Given the description of an element on the screen output the (x, y) to click on. 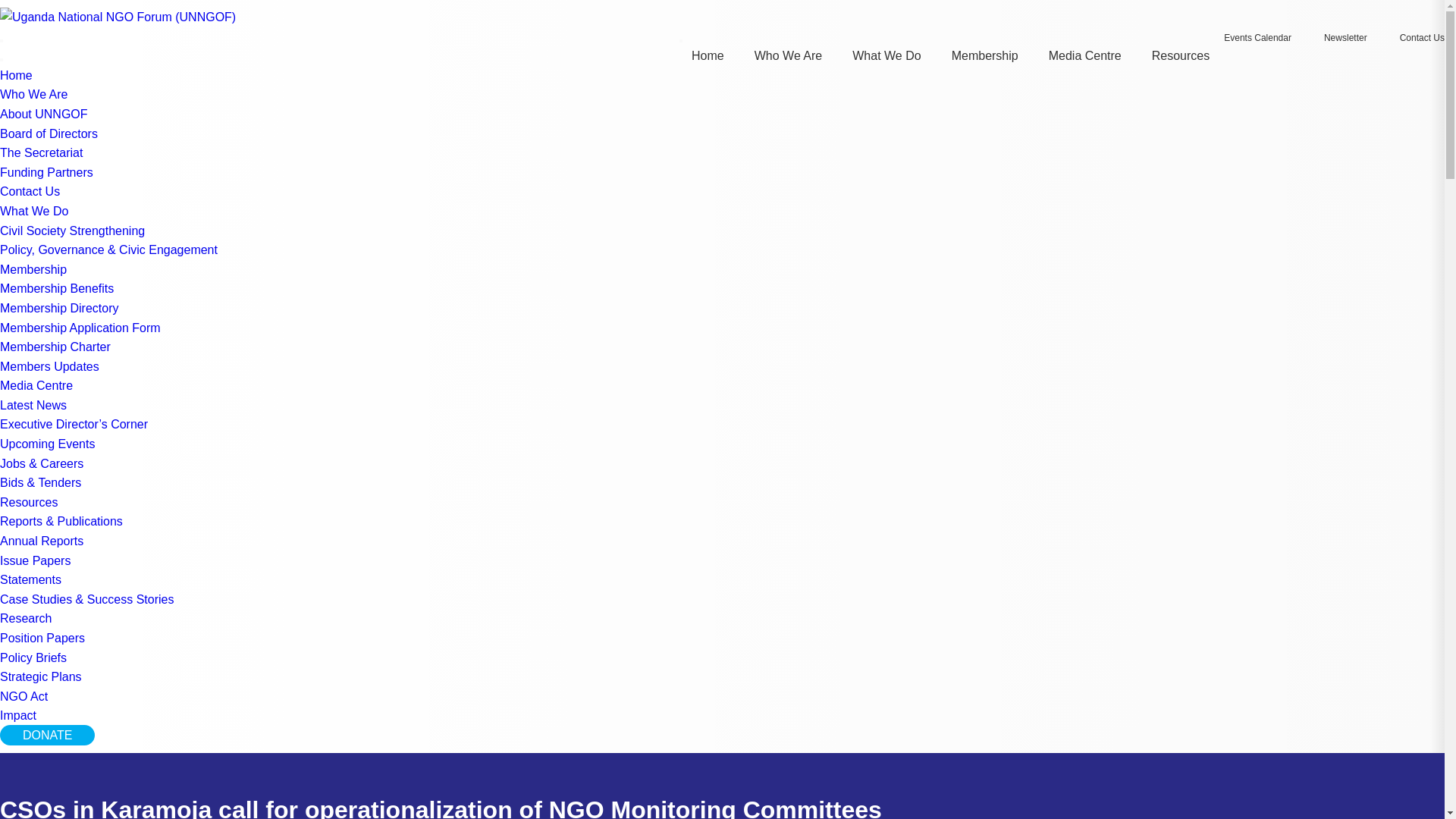
Membership (984, 55)
What We Do (885, 55)
Home (707, 55)
Events Calendar (1256, 37)
Media Centre (1084, 55)
Newsletter (1344, 37)
Who We Are (788, 55)
Resources (1180, 55)
